Given the description of an element on the screen output the (x, y) to click on. 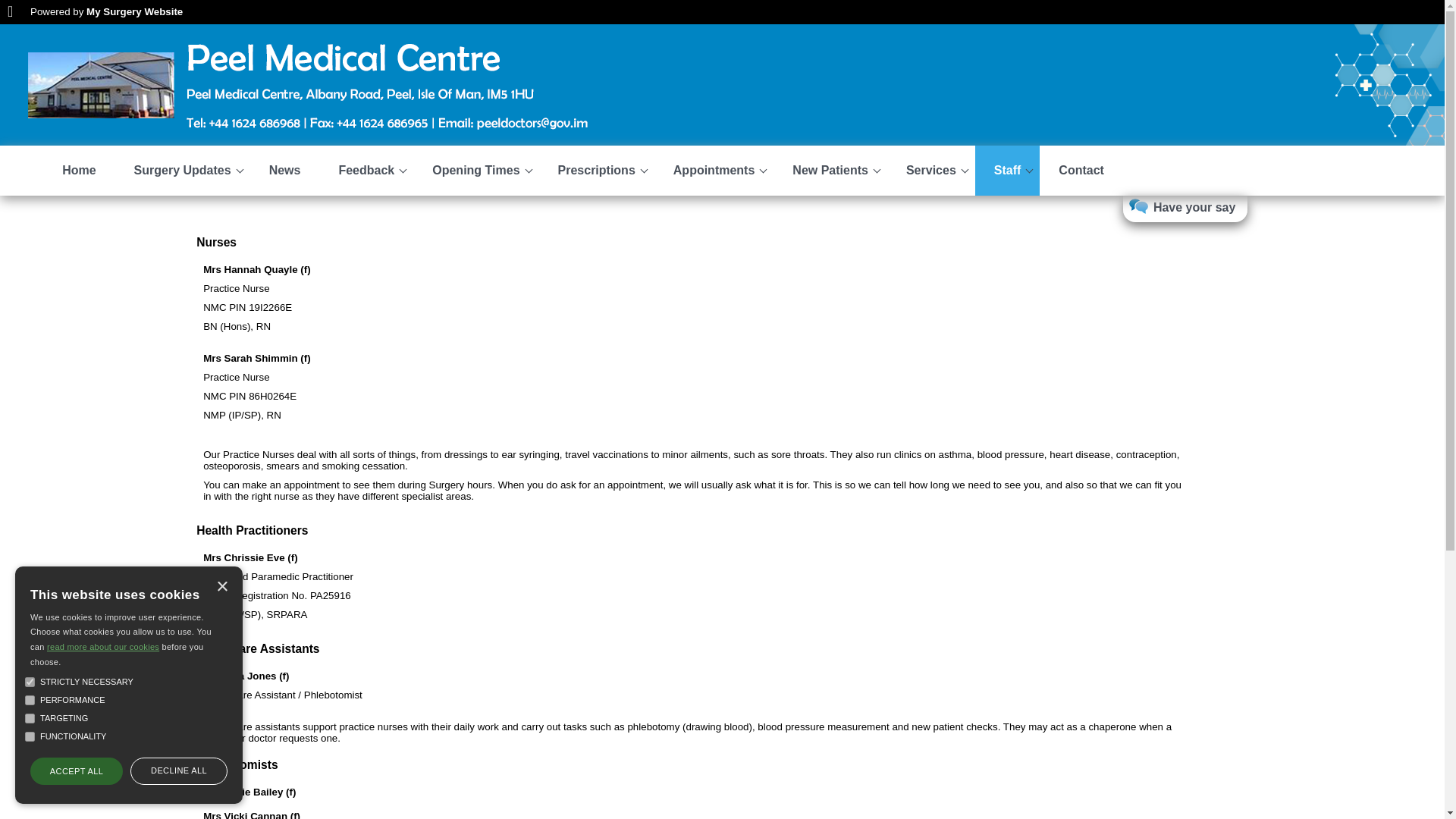
Feedback (365, 170)
Staff (1008, 170)
Opening Times (475, 170)
performance (29, 700)
Appointments (713, 170)
Prescriptions (595, 170)
New Patients (829, 170)
targeting (29, 718)
My Surgery Website (134, 11)
strict (29, 682)
Home (79, 170)
ACCEPT ALL (76, 770)
Surgery Updates (182, 170)
read more about our cookies (102, 646)
News (285, 170)
